Given the description of an element on the screen output the (x, y) to click on. 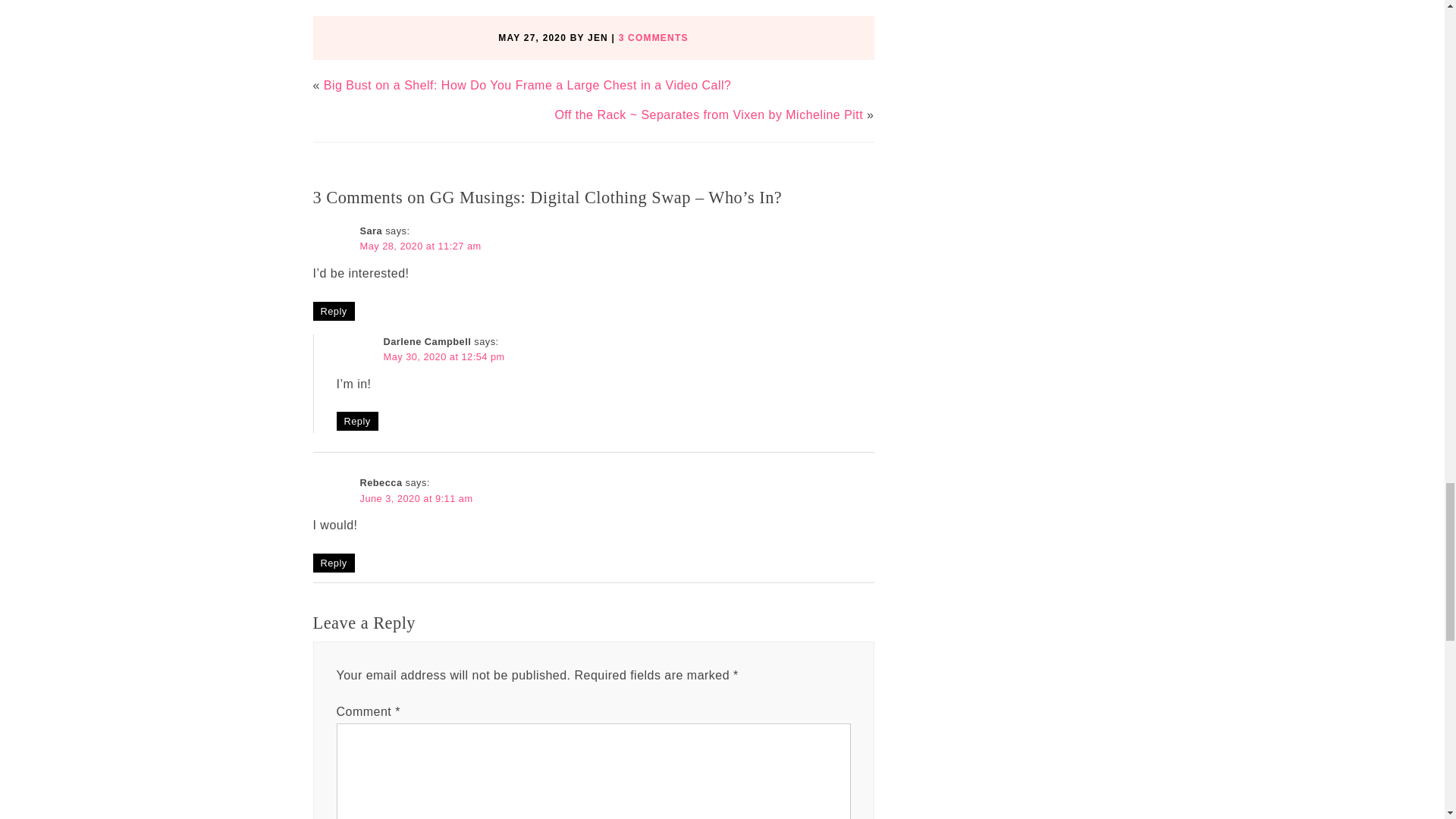
Reply (357, 420)
May 30, 2020 at 12:54 pm (444, 356)
Reply (333, 311)
3 COMMENTS (653, 37)
June 3, 2020 at 9:11 am (415, 498)
Reply (333, 562)
May 28, 2020 at 11:27 am (419, 245)
